Given the description of an element on the screen output the (x, y) to click on. 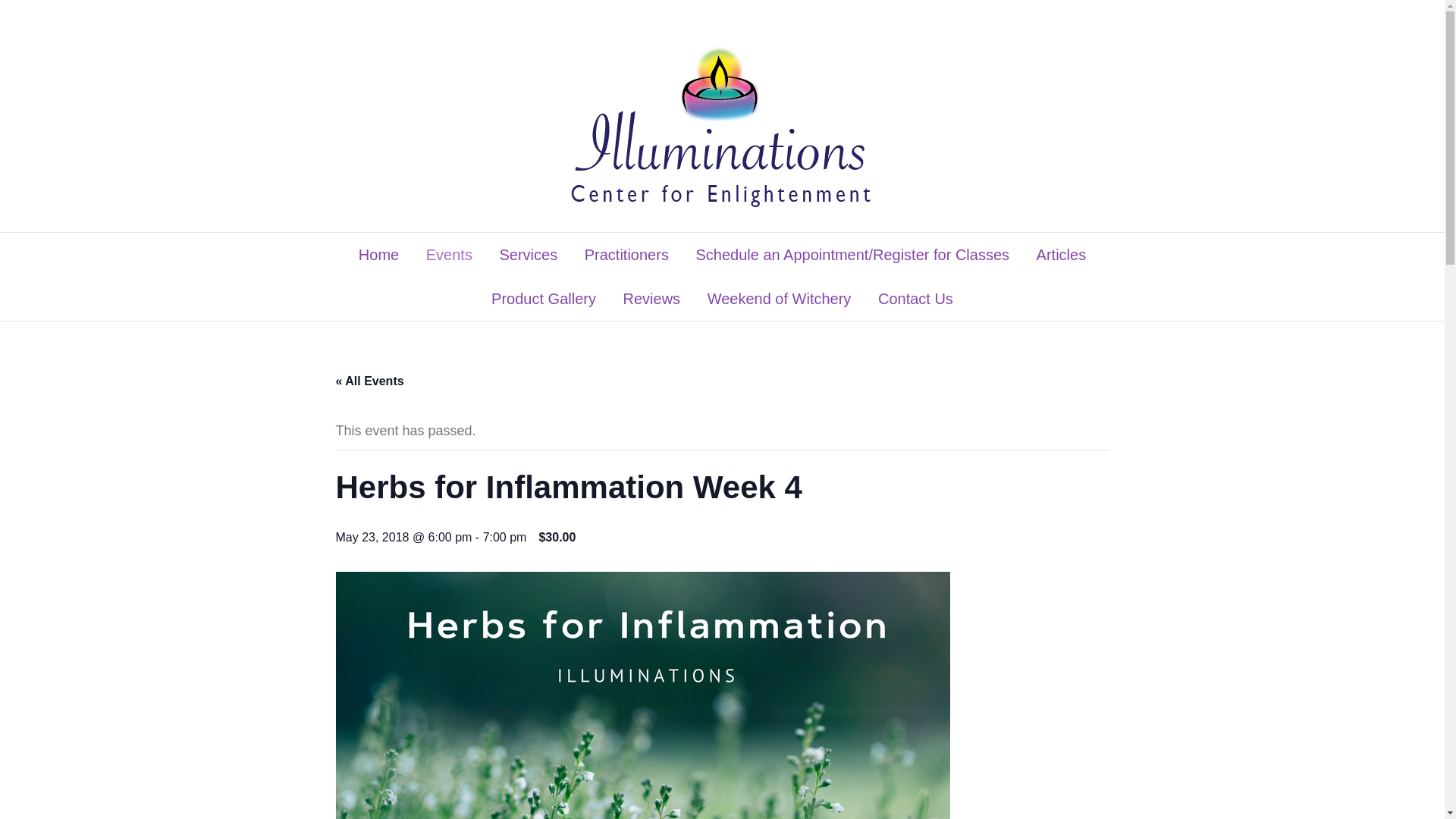
Home (378, 254)
Weekend of Witchery (779, 298)
Services (528, 254)
Contact Us (914, 298)
Practitioners (626, 254)
Product Gallery (543, 298)
Articles (1061, 254)
Events (448, 254)
Reviews (652, 298)
